Given the description of an element on the screen output the (x, y) to click on. 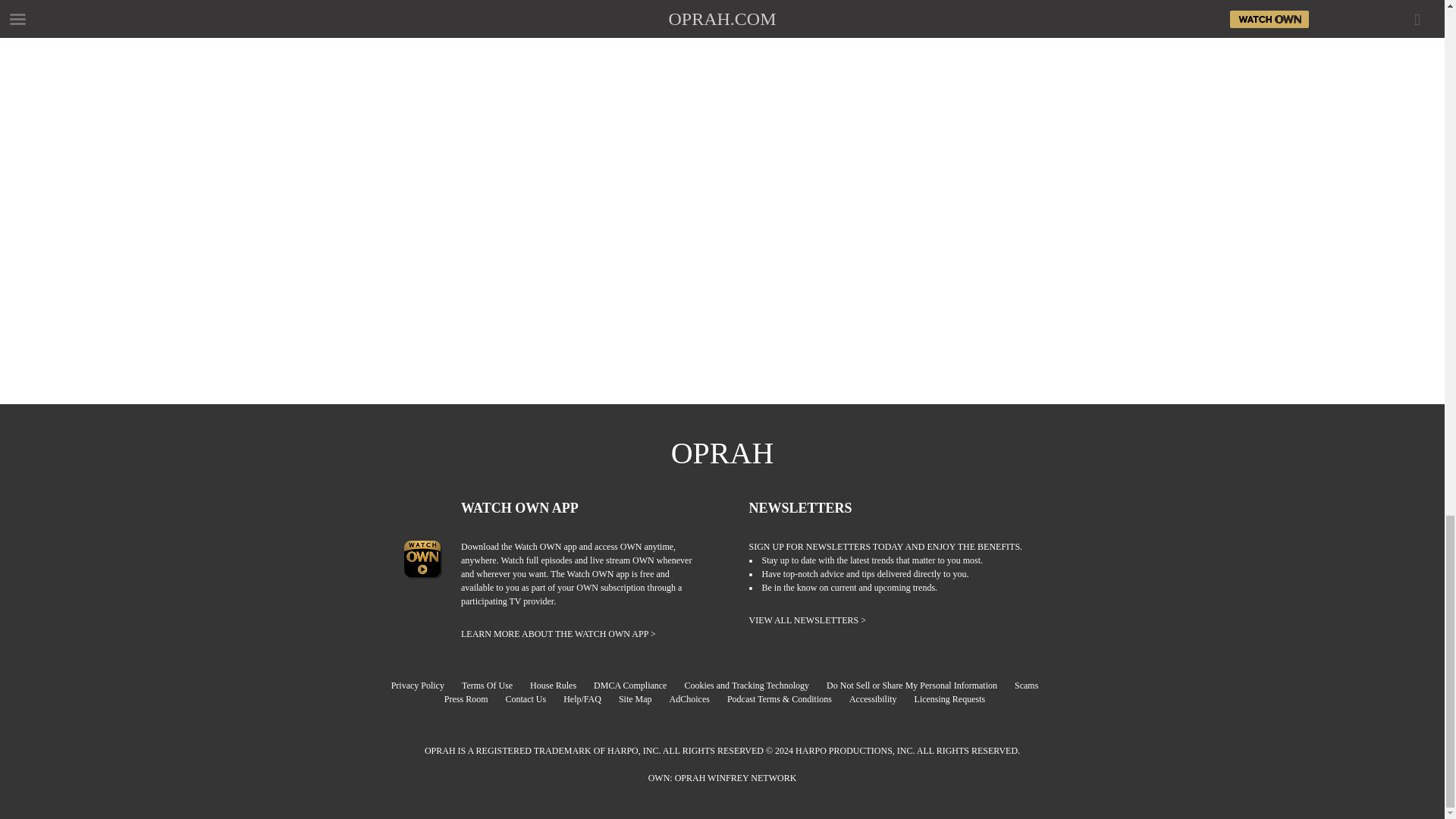
Do Not Sell or Share My Personal Information (919, 685)
Contact Us (532, 698)
House Rules (560, 685)
Licensing Requests (957, 698)
Scams (1033, 685)
Cookies and Tracking Technology (754, 685)
DMCA Compliance (637, 685)
OPRAH (722, 453)
Press Room (473, 698)
Site Map (642, 698)
Terms Of Use (494, 685)
Privacy Policy (425, 685)
AdChoices (697, 698)
Accessibility (880, 698)
